Given the description of an element on the screen output the (x, y) to click on. 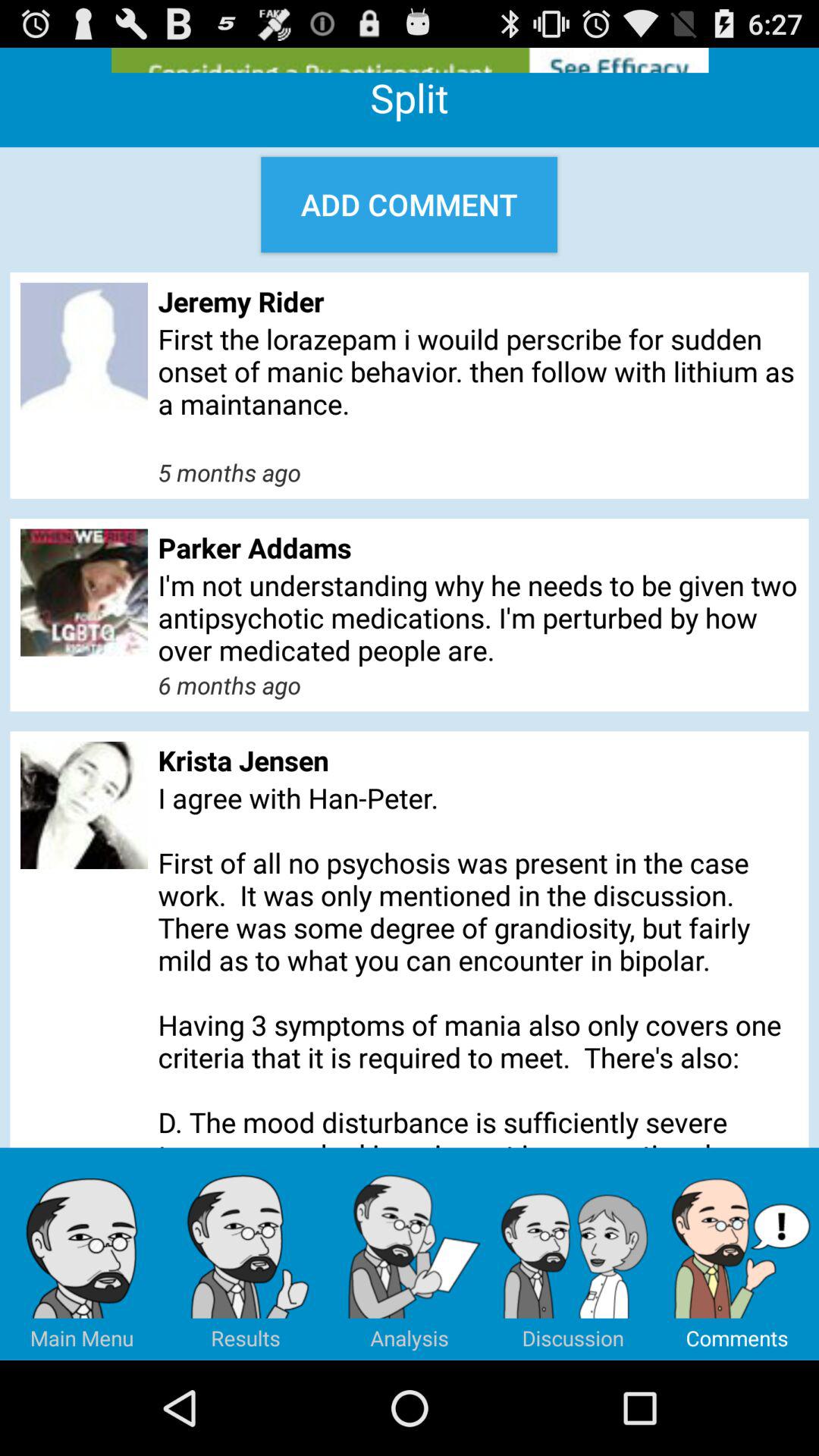
launch the parker addams item (478, 547)
